Given the description of an element on the screen output the (x, y) to click on. 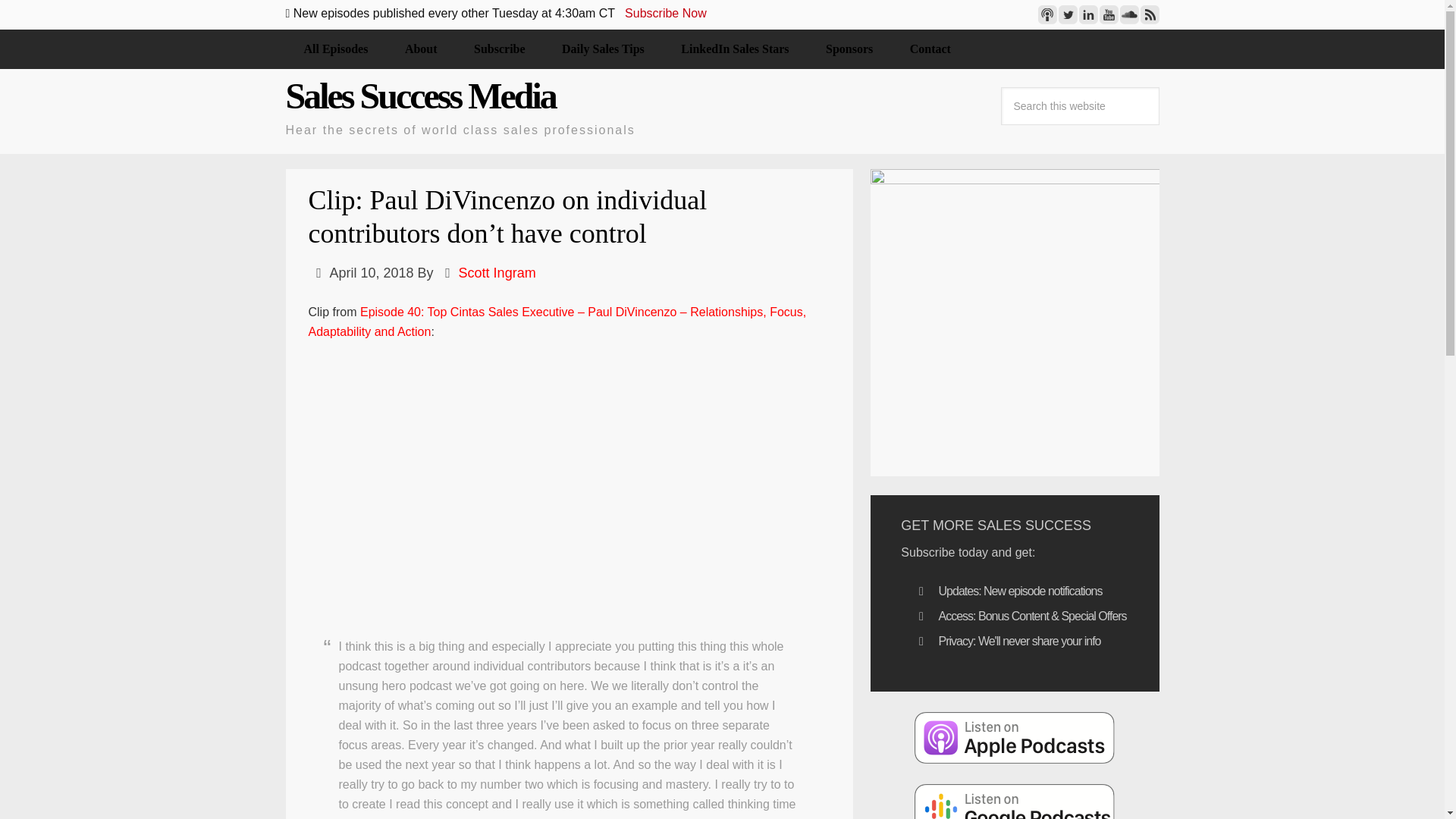
Subscribe (499, 48)
Scott Ingram (496, 272)
Sales Success Stories on Apple Podcasts (1014, 736)
LinkedIn Sales Stars (734, 48)
Sales Success Media (419, 96)
Sales Success Stories on Google Podcasts (1014, 800)
Contact (930, 48)
About (421, 48)
Sponsors (849, 48)
Daily Sales Tips (602, 48)
Subscribe Now (665, 12)
All Episodes (335, 48)
